Given the description of an element on the screen output the (x, y) to click on. 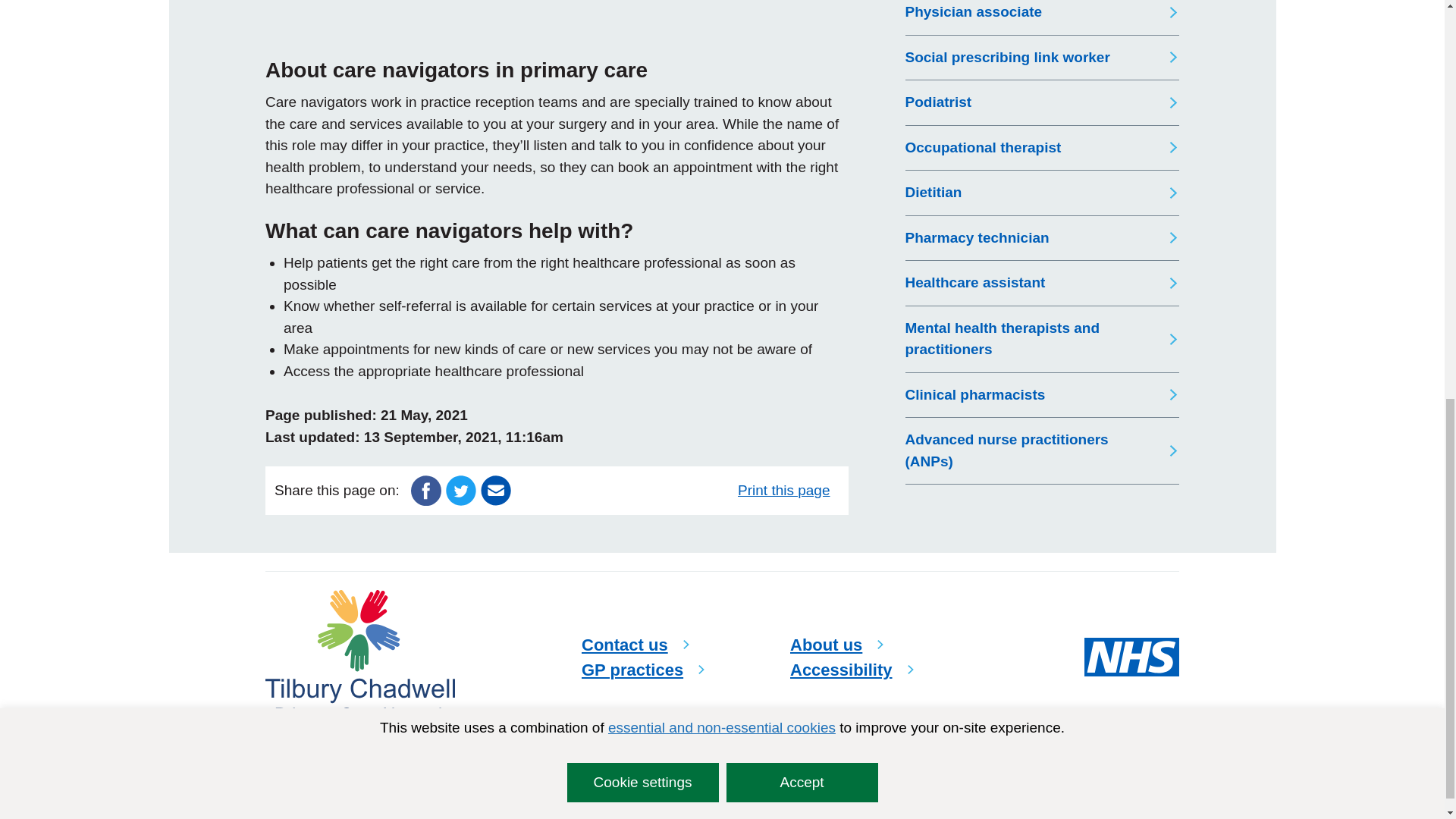
Tilbury and Chadwell Primary Care Network Homepage (359, 656)
Print this page (788, 490)
Share via Email (495, 489)
Share on Facebook (425, 489)
Share on Twitter (460, 489)
